Given the description of an element on the screen output the (x, y) to click on. 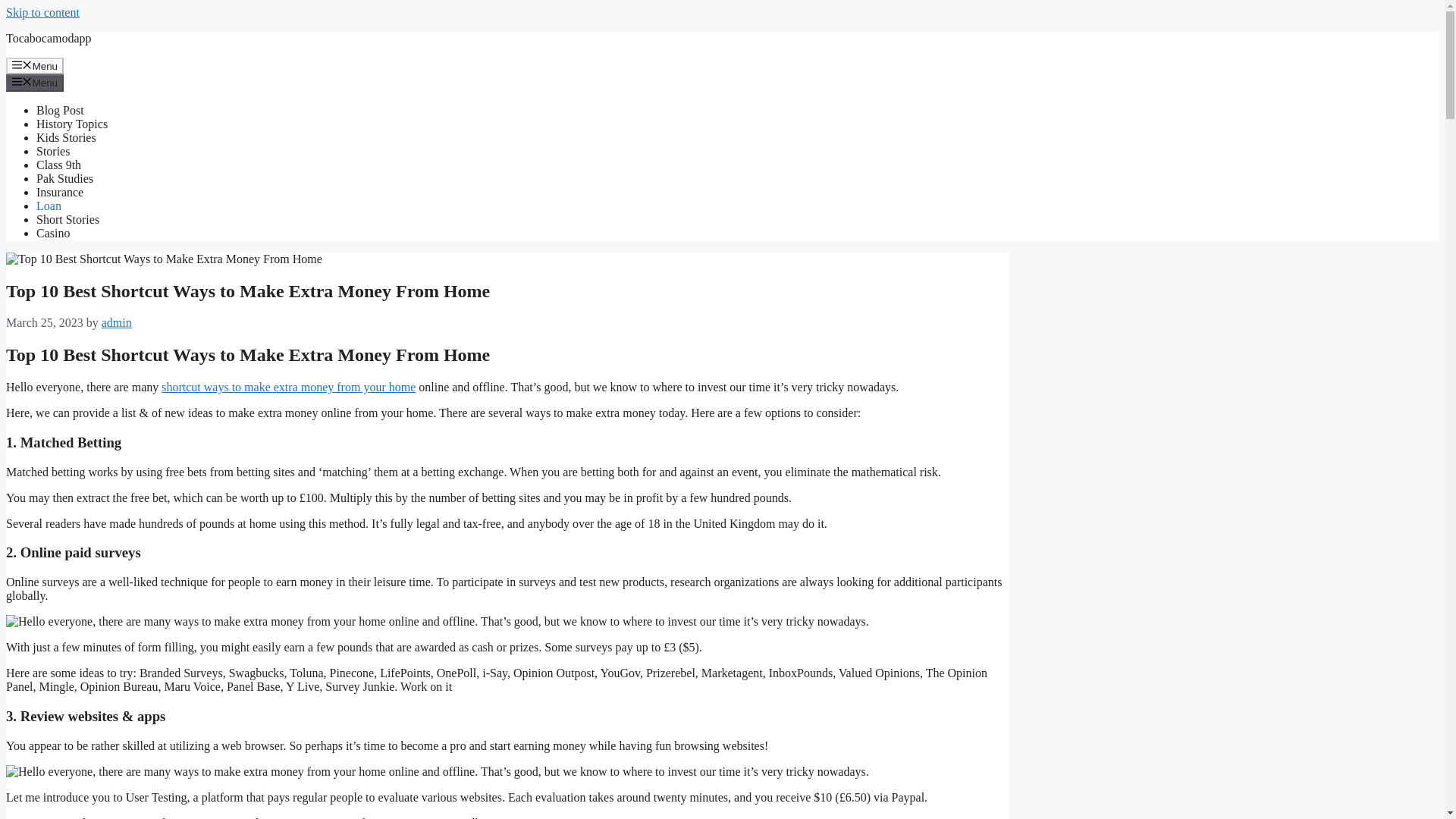
Short Stories (67, 219)
Skip to content (42, 11)
Kids Stories (66, 137)
Blog Post (60, 110)
Tocabocamodapp (48, 38)
admin (116, 322)
Loan (48, 205)
History Topics (71, 123)
Class 9th (58, 164)
Casino (52, 232)
